Given the description of an element on the screen output the (x, y) to click on. 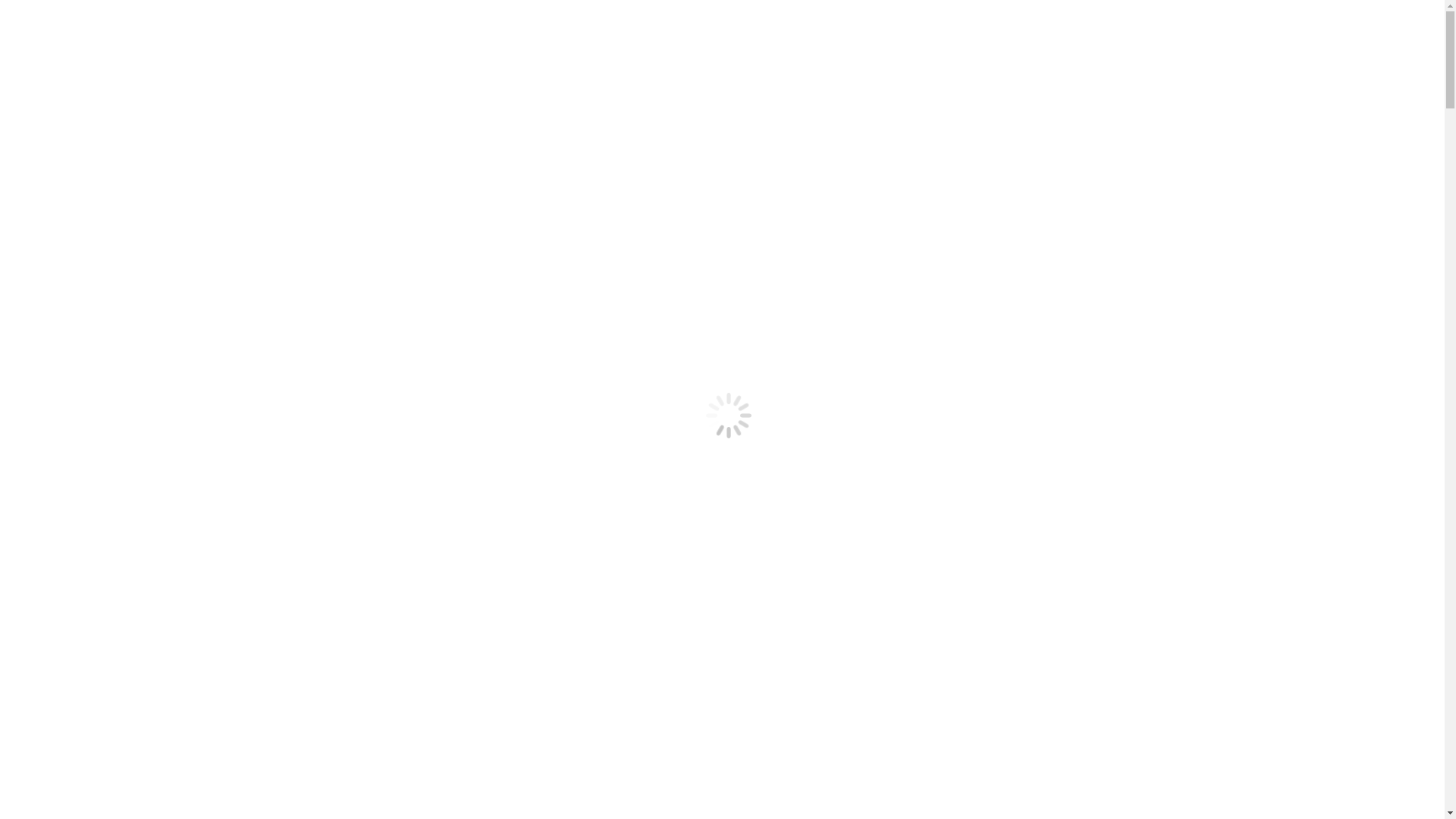
Geven Element type: text (52, 276)
Preken Element type: text (52, 249)
Contact Element type: text (55, 290)
YouVersion Element type: text (64, 100)
Over ons Element type: text (58, 194)
Skip to content Element type: text (5, 5)
HASHTAG Element type: text (64, 263)
Agenda Element type: text (55, 114)
Preken Element type: text (52, 128)
Agenda Element type: text (55, 235)
Over ons Element type: text (58, 73)
Contact Element type: text (55, 169)
YouVersion Element type: text (64, 222)
HASHTAG Element type: text (64, 141)
Community Element type: text (65, 208)
Geven Element type: text (52, 155)
Community Element type: text (65, 87)
